Given the description of an element on the screen output the (x, y) to click on. 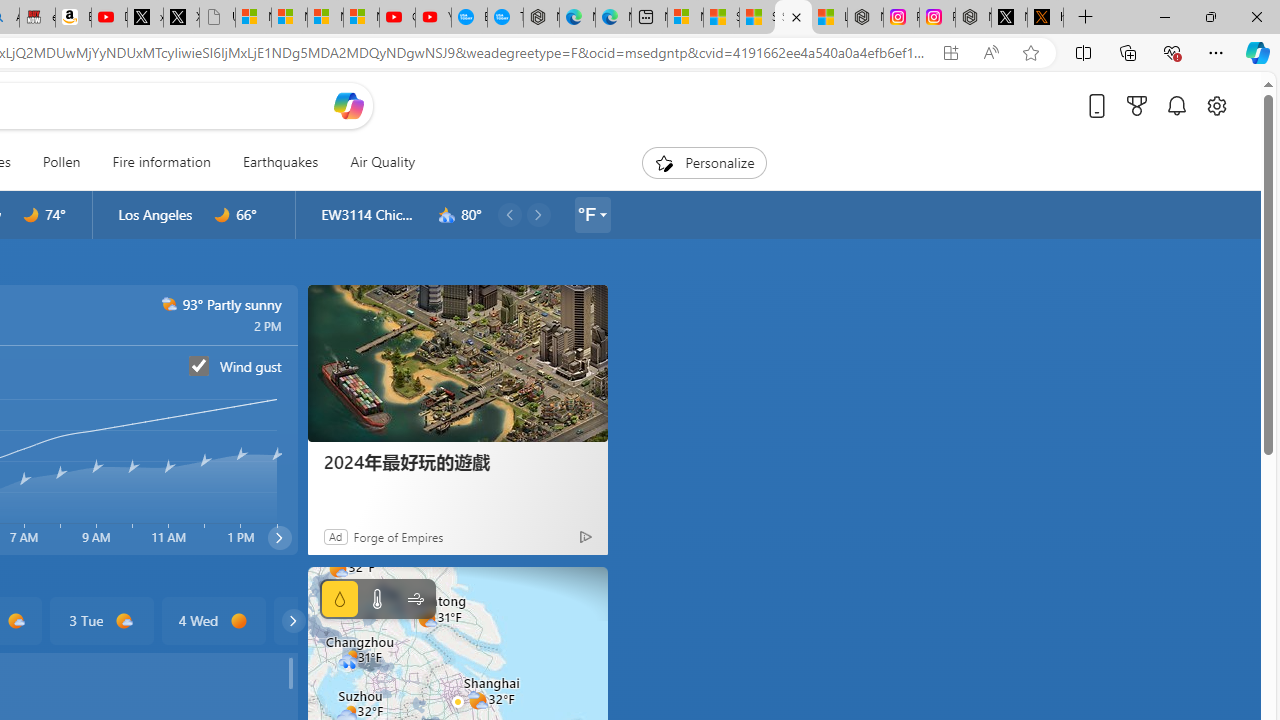
Forge of Empires (397, 536)
3 Tue d1000 (100, 620)
Nordace (@NordaceOfficial) / X (1009, 17)
YouTube Kids - An App Created for Kids to Explore Content (433, 17)
Earthquakes (279, 162)
Air Quality (382, 162)
Pollen (61, 162)
To get missing image descriptions, open the context menu. (664, 162)
Open settings (1216, 105)
Notifications (1176, 105)
